Given the description of an element on the screen output the (x, y) to click on. 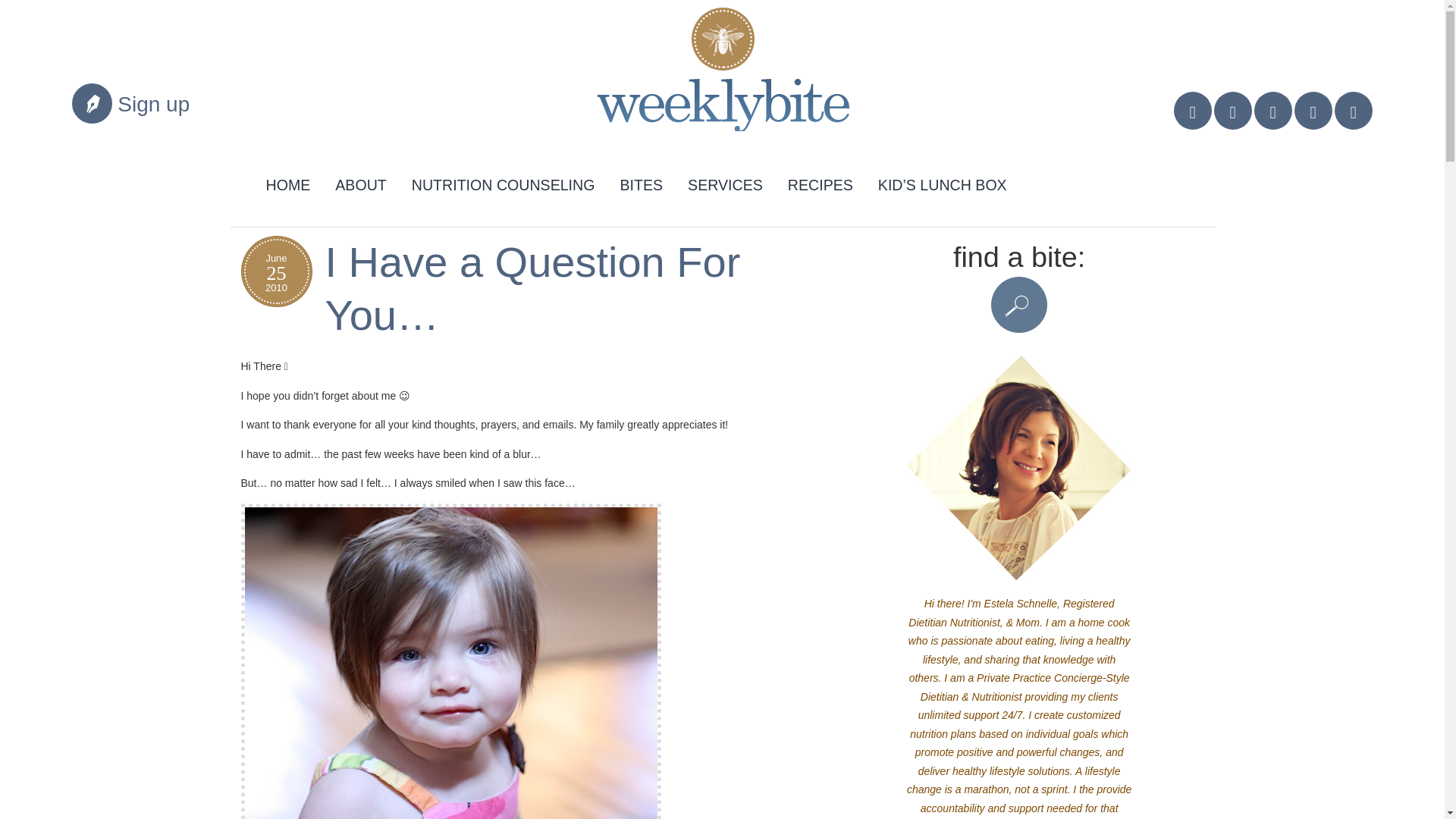
WeeklyBite (710, 76)
NUTRITION COUNSELING (503, 181)
HOME (287, 181)
ABOUT (360, 181)
RECIPES (820, 181)
BITES (641, 181)
SERVICES (725, 181)
Sign up (153, 104)
